Given the description of an element on the screen output the (x, y) to click on. 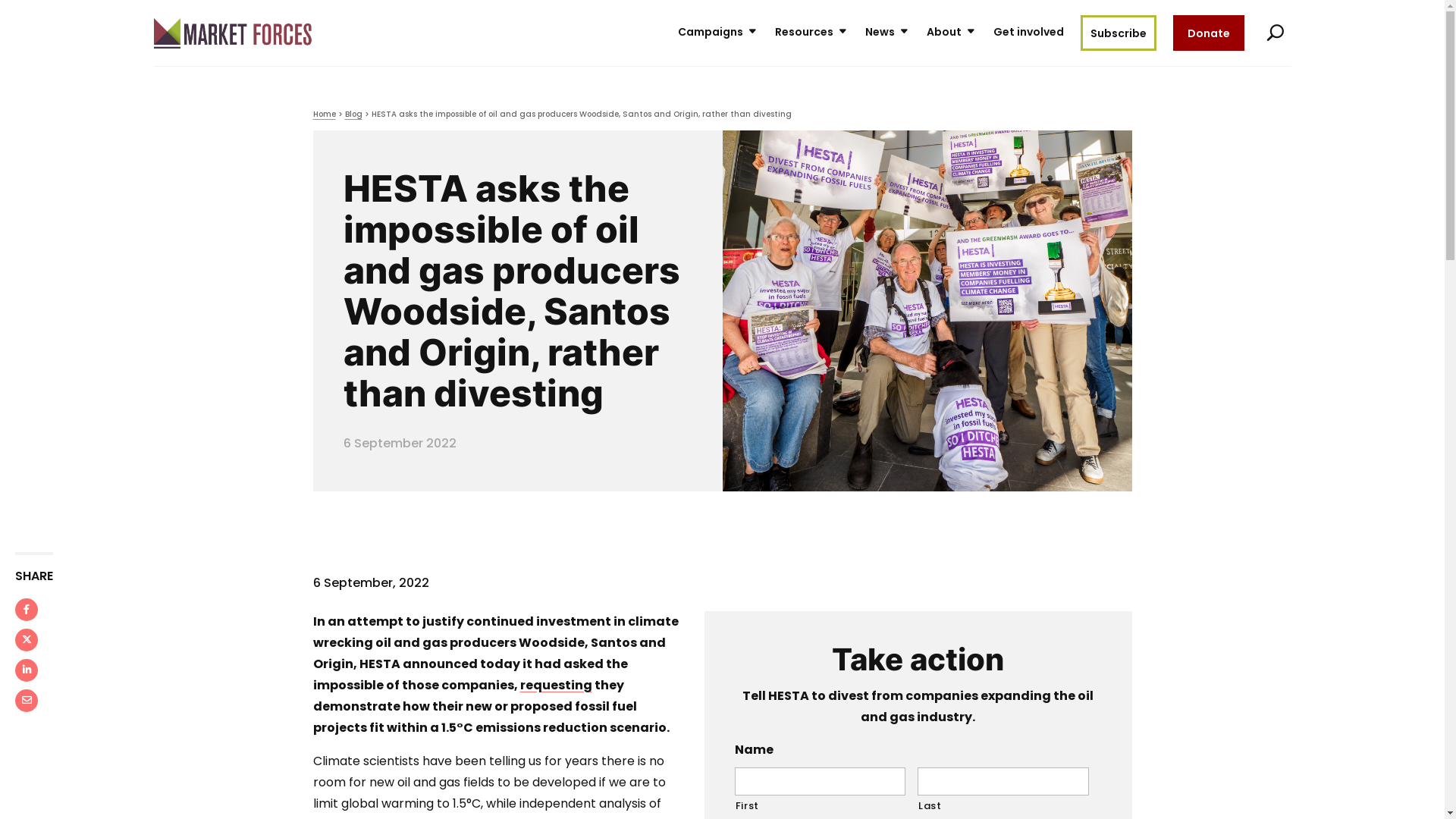
News Element type: text (886, 32)
Subscribe Element type: text (1117, 32)
requesting Element type: text (556, 684)
Donate Element type: text (1207, 32)
Get involved Element type: text (1028, 32)
Resources Element type: text (811, 32)
Campaigns Element type: text (717, 32)
Home Element type: text (323, 113)
Blog Element type: text (352, 113)
About Element type: text (951, 32)
